Given the description of an element on the screen output the (x, y) to click on. 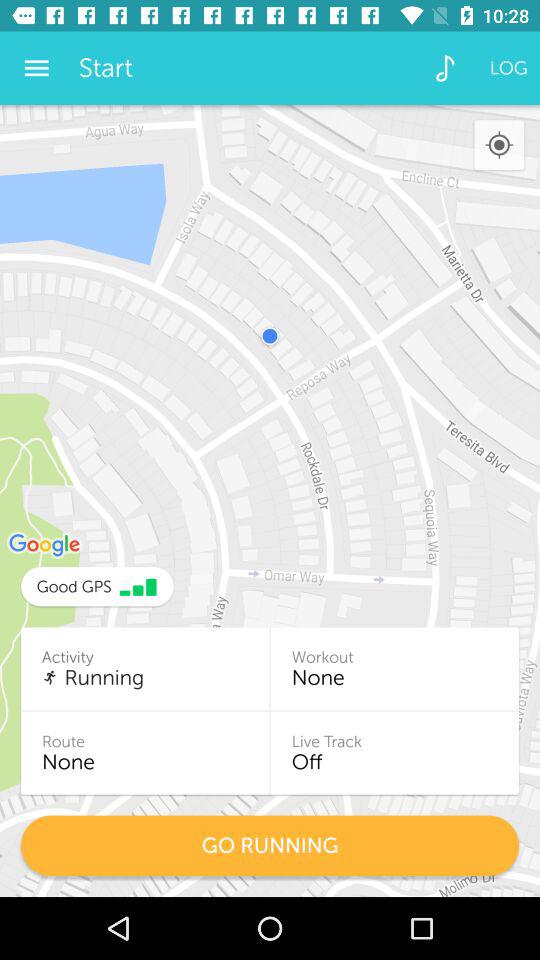
turn off the item at the center (270, 500)
